Given the description of an element on the screen output the (x, y) to click on. 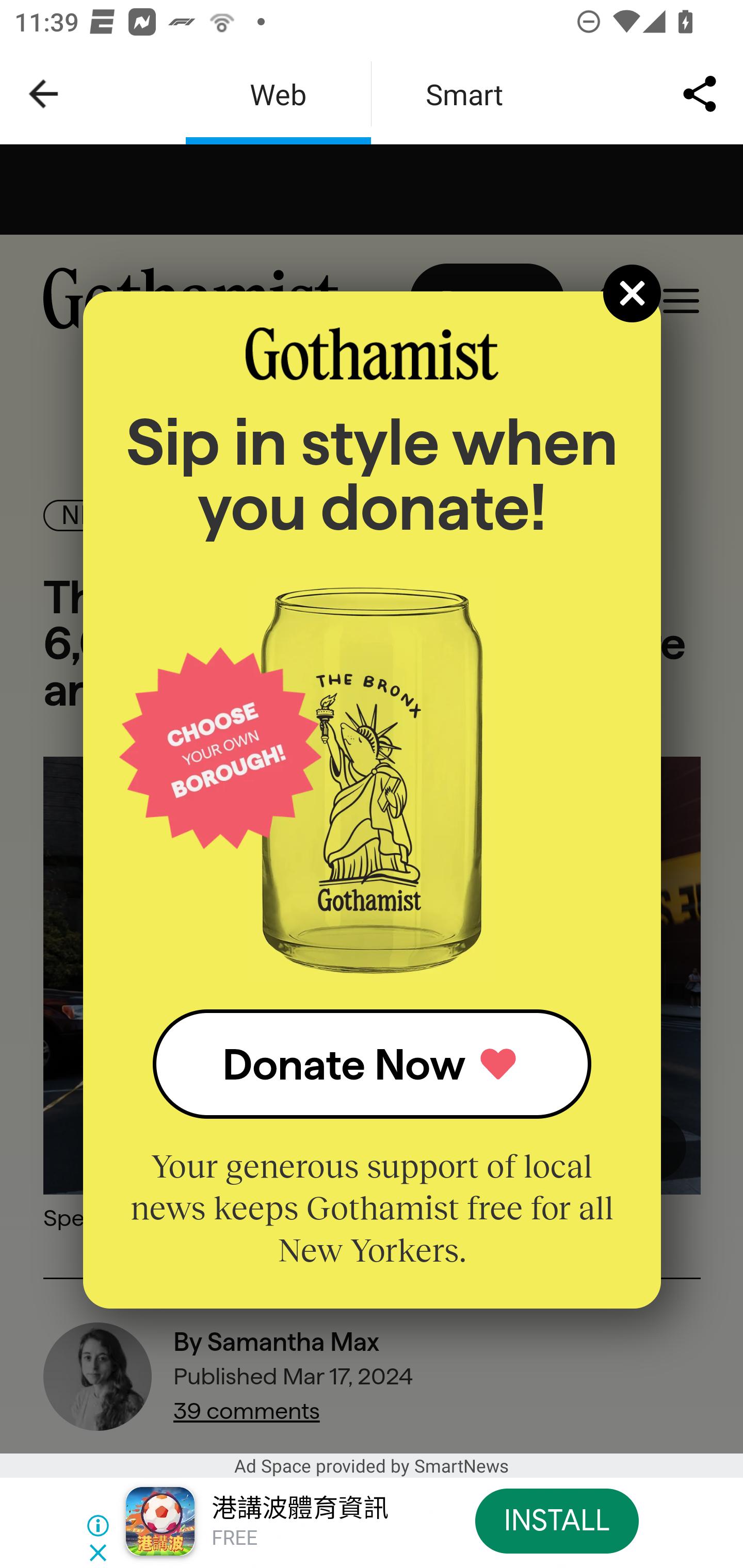
Web (277, 93)
Smart (464, 93)
Close (632, 293)
Gothamist (371, 354)
Donate Now (371, 1063)
INSTALL (556, 1520)
港講波體育資訊 (299, 1508)
